Given the description of an element on the screen output the (x, y) to click on. 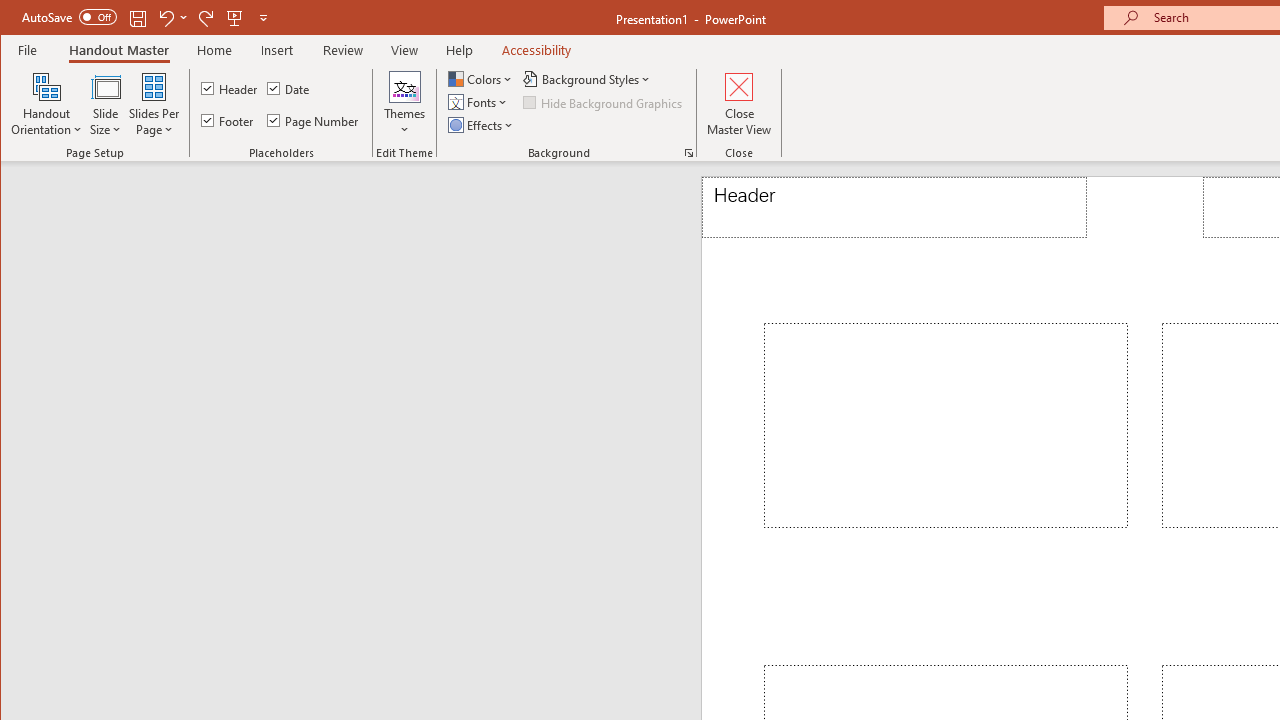
Fonts (479, 101)
